Given the description of an element on the screen output the (x, y) to click on. 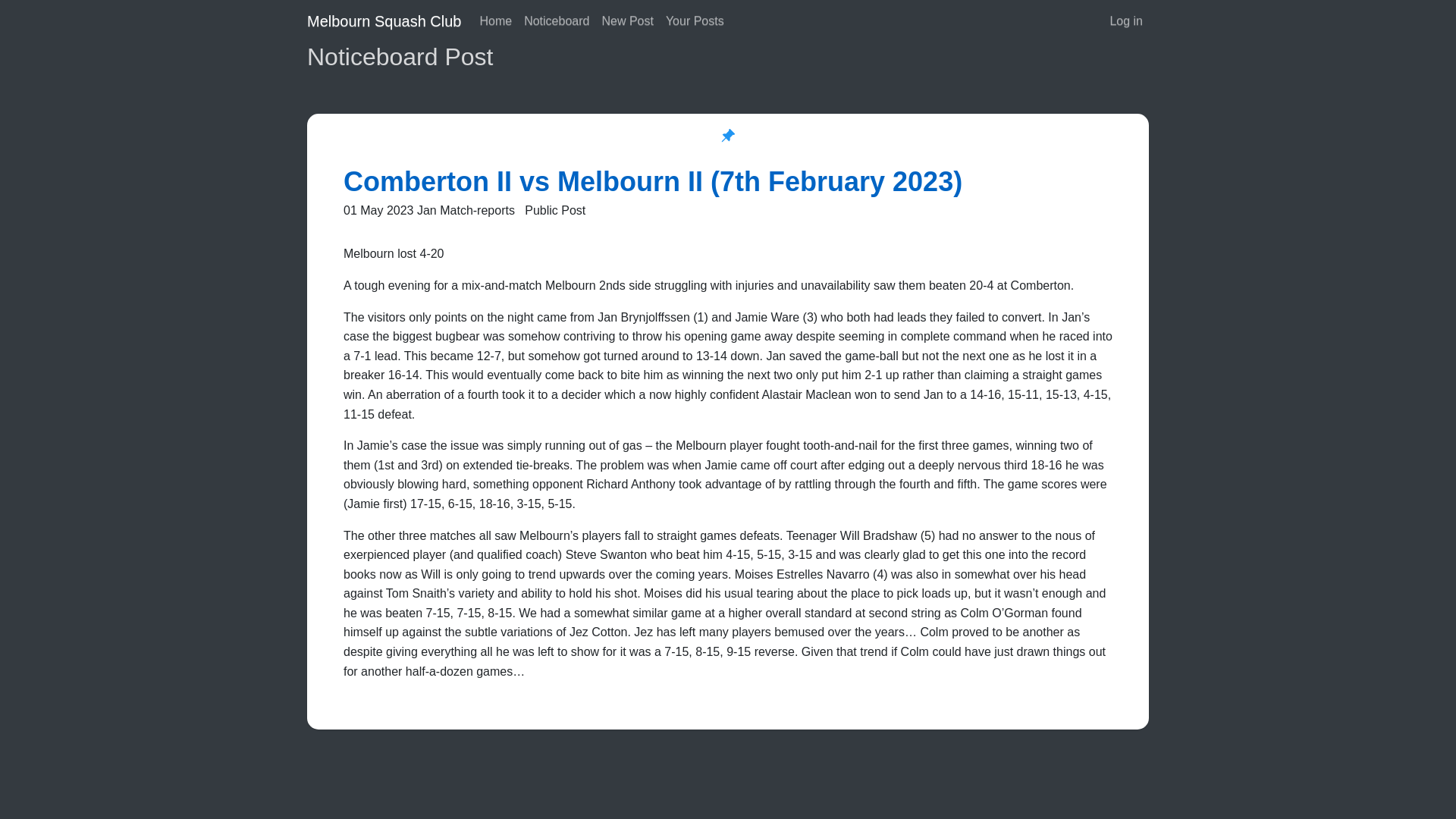
Your Posts (694, 20)
Log in (1125, 20)
Melbourn Squash Club (384, 20)
New Post (627, 20)
Noticeboard (556, 20)
Home (495, 20)
